Given the description of an element on the screen output the (x, y) to click on. 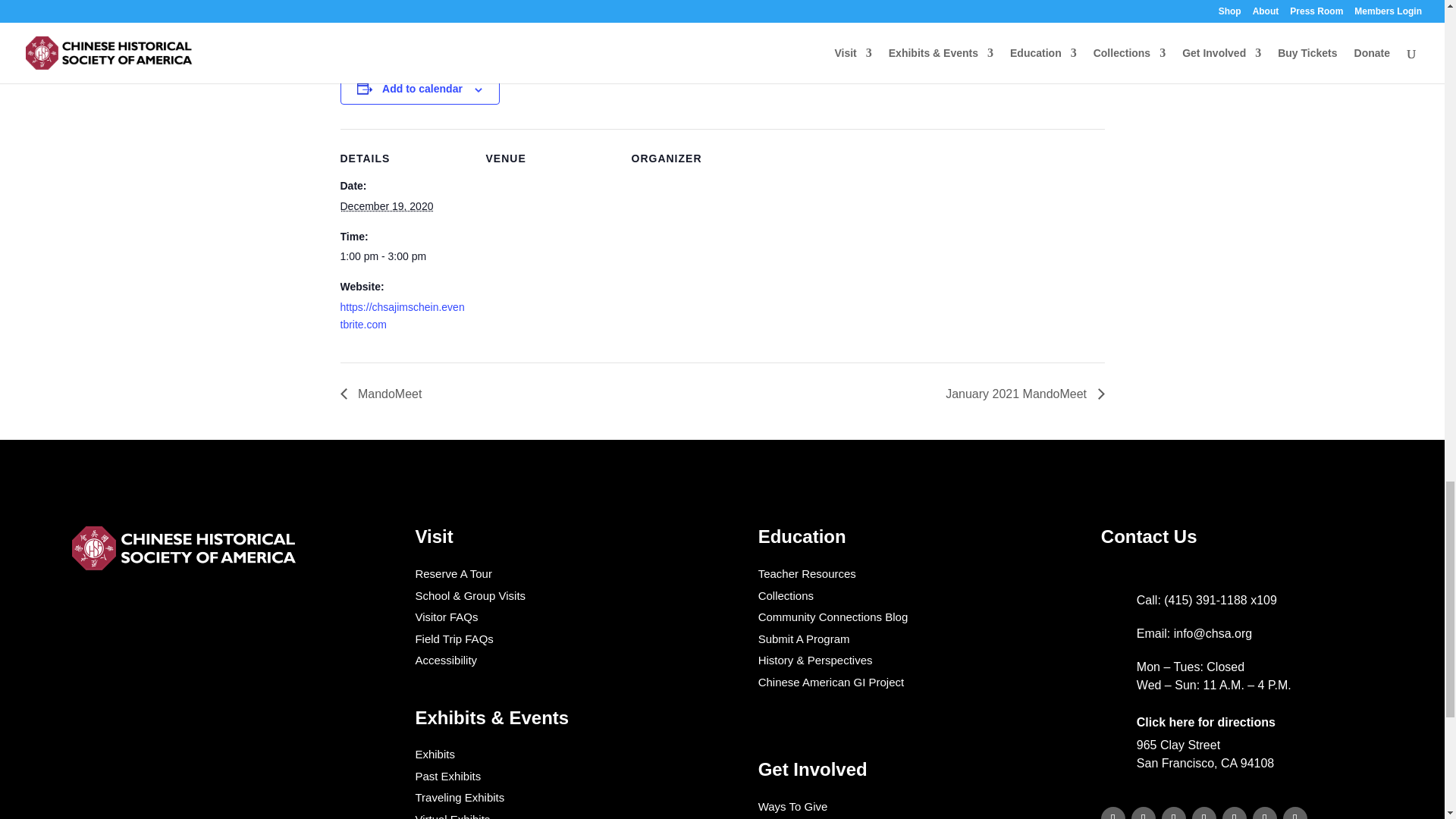
Follow on Youtube (1264, 812)
2020-12-19 (385, 205)
Follow on LinkedIn (1112, 812)
2020-12-19 (403, 257)
Follow on Flickr (1294, 812)
TORICAL--SOCIETY-OF-AMERICA (185, 548)
Follow on tumblr (1173, 812)
Follow on Instagram (1203, 812)
Follow on X (1234, 812)
Follow on Facebook (1143, 812)
